Given the description of an element on the screen output the (x, y) to click on. 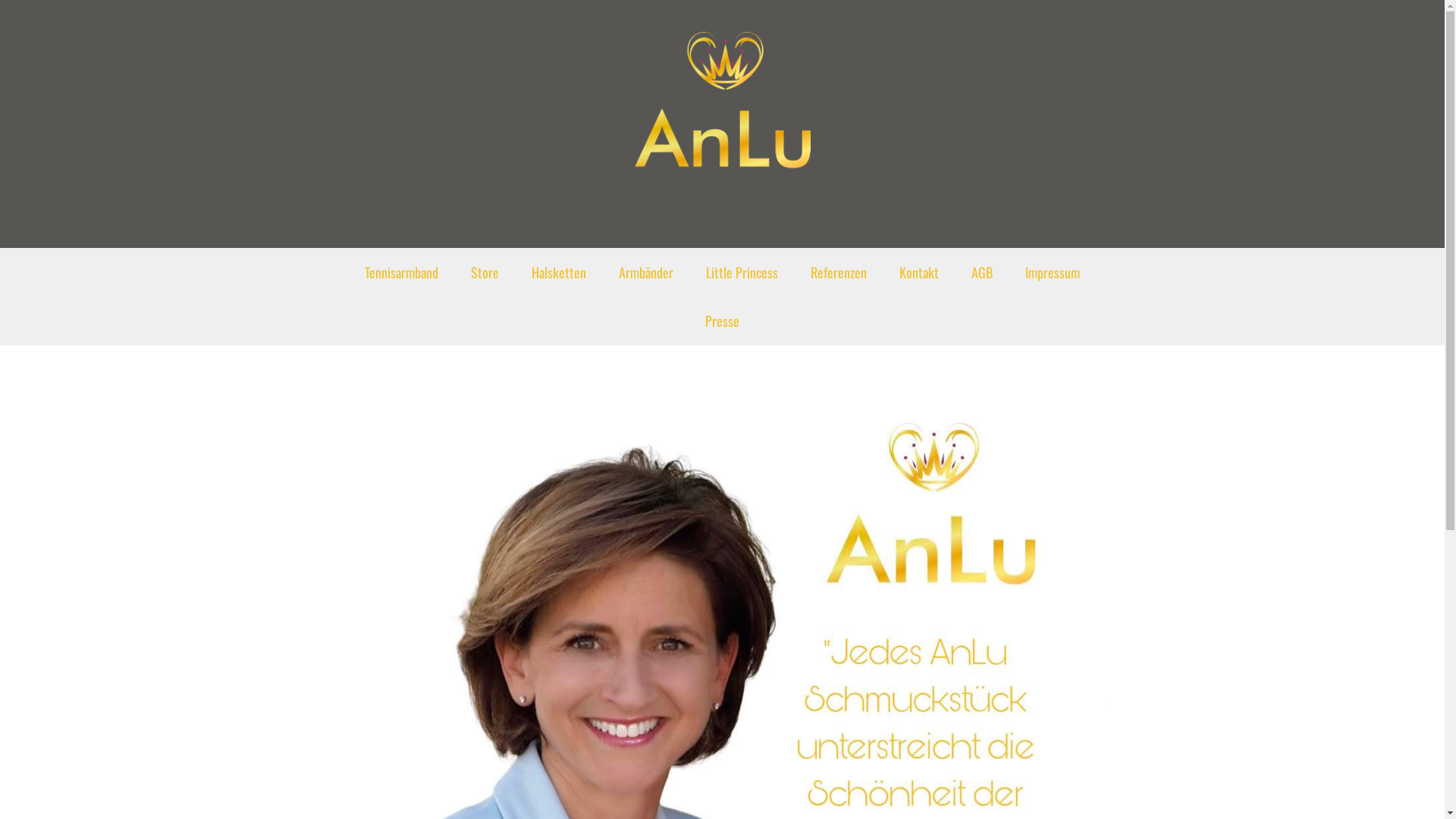
Tennisarmband Element type: text (401, 271)
Little Princess Element type: text (741, 271)
Kontakt Element type: text (918, 271)
Presse Element type: text (722, 320)
AGB Element type: text (981, 271)
Impressum Element type: text (1052, 271)
Halsketten Element type: text (558, 271)
Referenzen Element type: text (838, 271)
Store Element type: text (484, 271)
